Given the description of an element on the screen output the (x, y) to click on. 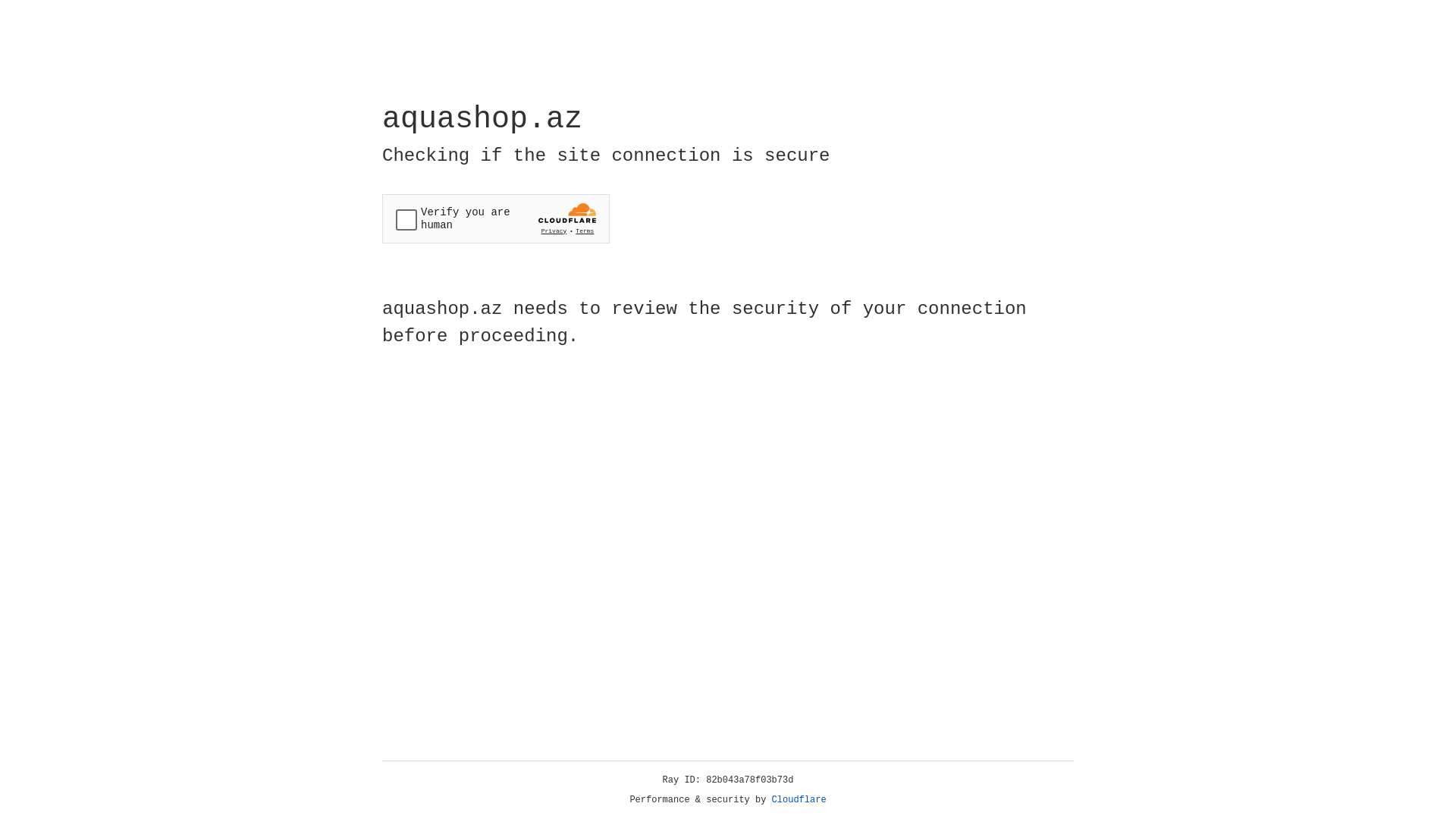
Cloudflare Element type: text (798, 799)
Widget containing a Cloudflare security challenge Element type: hover (495, 218)
